Given the description of an element on the screen output the (x, y) to click on. 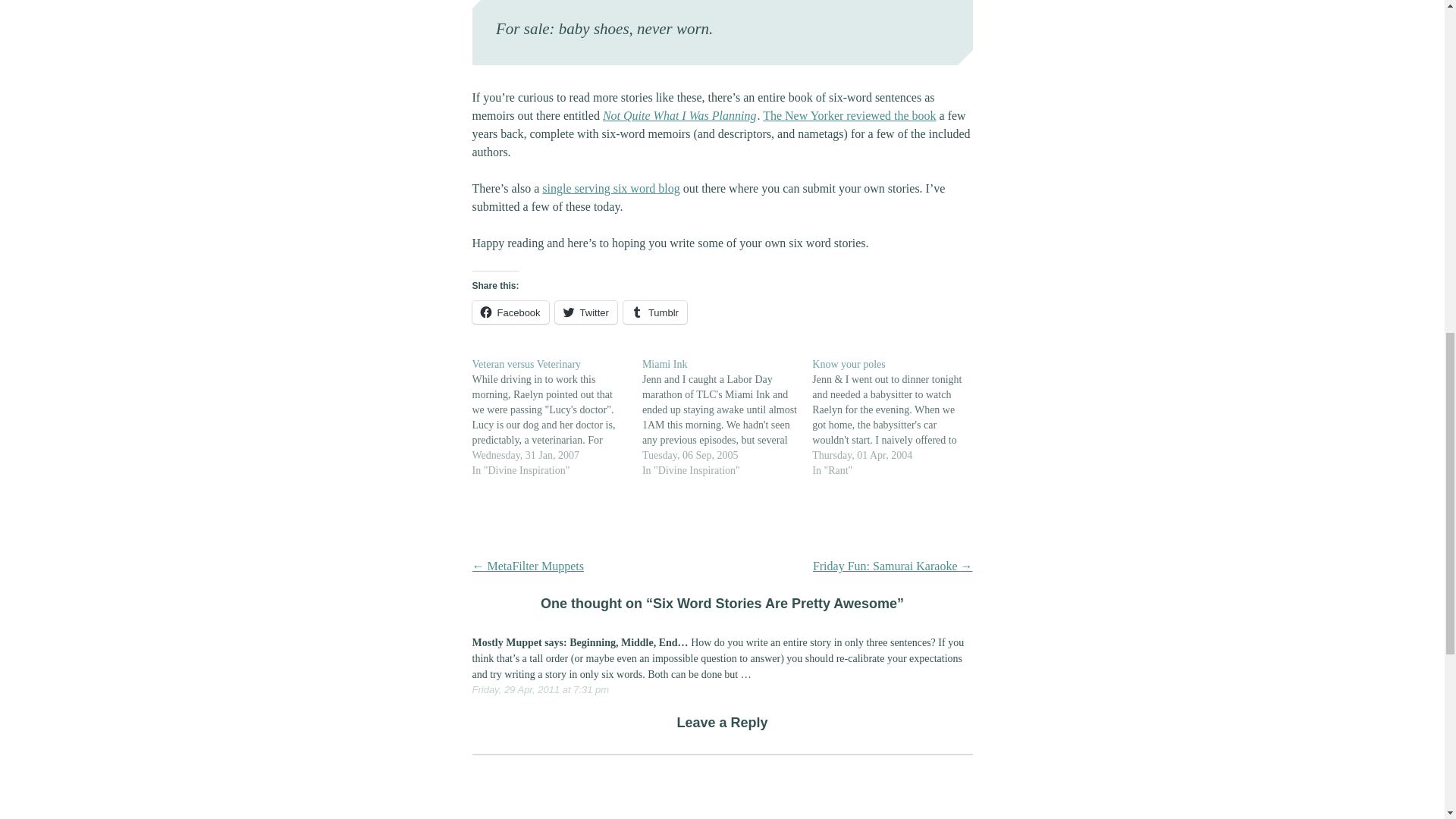
Tumblr (655, 312)
Miami Ink (664, 364)
Friday, 29 Apr, 2011 at 7:31 pm (539, 689)
Know your poles (848, 364)
Click to share on Tumblr (655, 312)
Twitter (585, 312)
Veteran versus Veterinary (556, 417)
Not Quite What I Was Planning (679, 115)
Miami Ink (664, 364)
Comment Form (721, 786)
Click to share on Twitter (585, 312)
Veteran versus Veterinary (525, 364)
The New Yorker reviewed the book (849, 115)
Veteran versus Veterinary (525, 364)
single serving six word blog (610, 187)
